Given the description of an element on the screen output the (x, y) to click on. 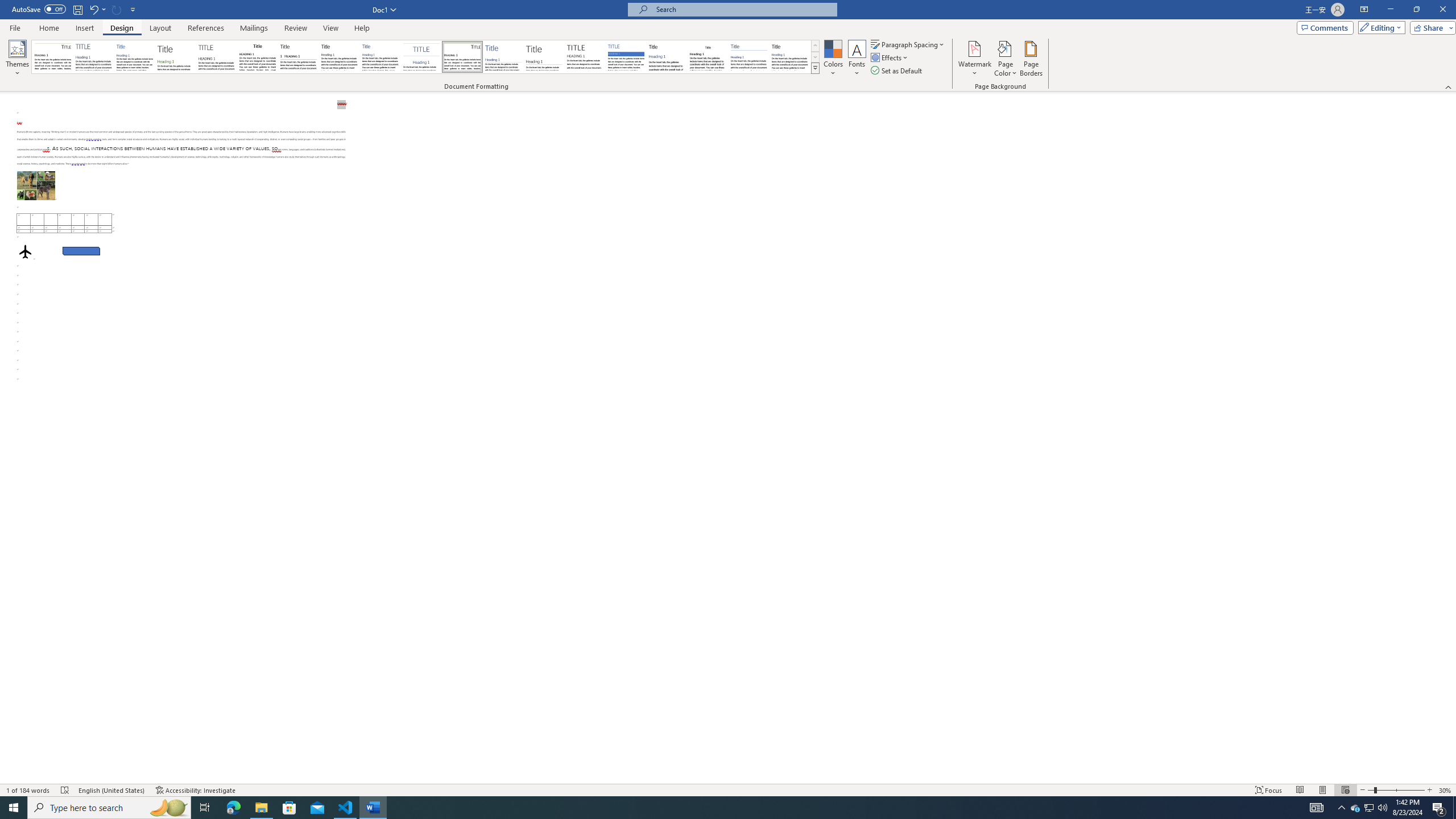
Document (52, 56)
Fonts (856, 58)
Word 2013 (790, 56)
Morphological variation in six dogs (36, 185)
Themes (17, 58)
Centered (421, 56)
Minimalist (584, 56)
Editing (1379, 27)
